Given the description of an element on the screen output the (x, y) to click on. 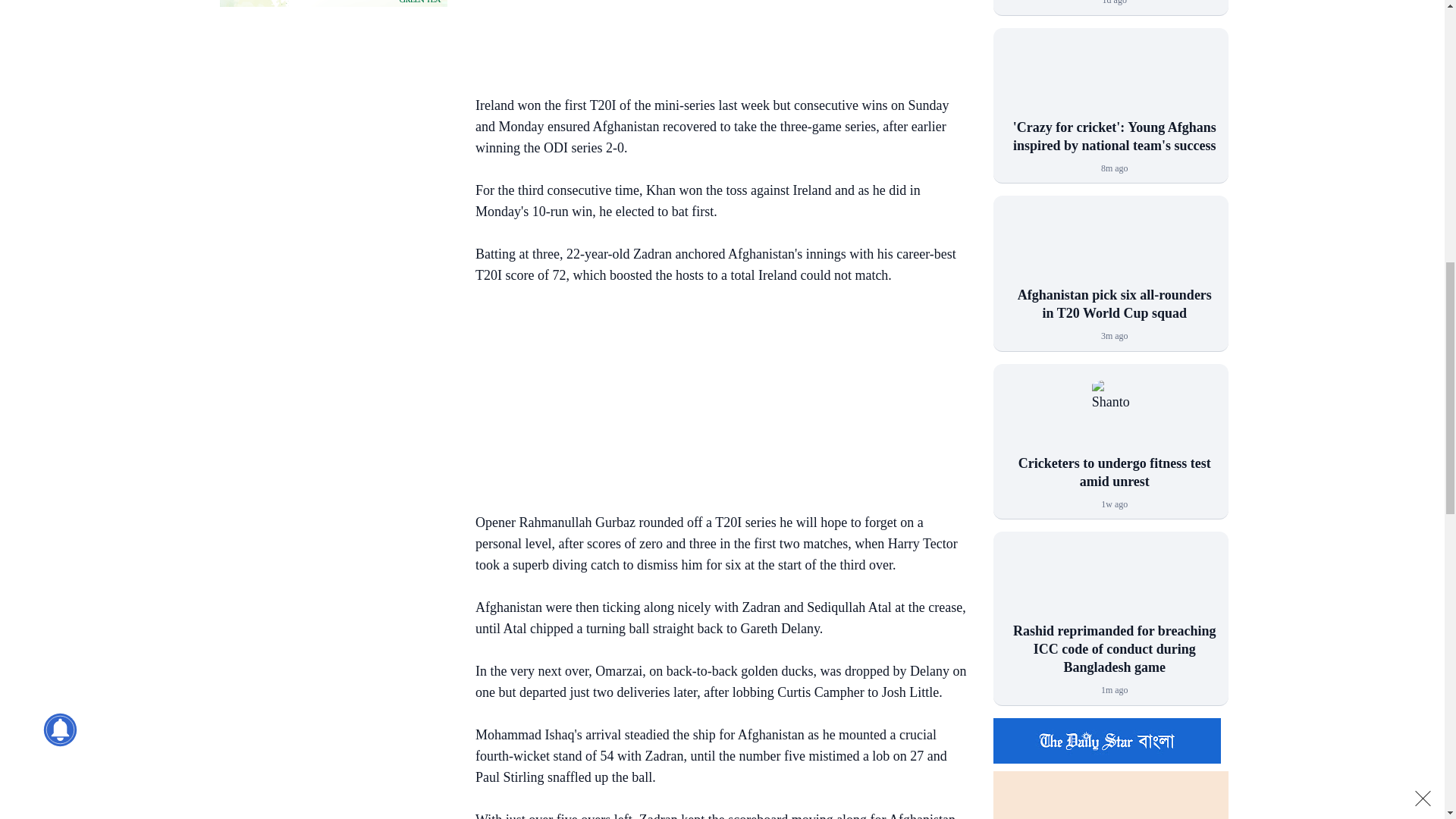
3rd party ad content (713, 401)
3rd party ad content (332, 3)
3rd party ad content (332, 116)
3rd party ad content (713, 39)
